Given the description of an element on the screen output the (x, y) to click on. 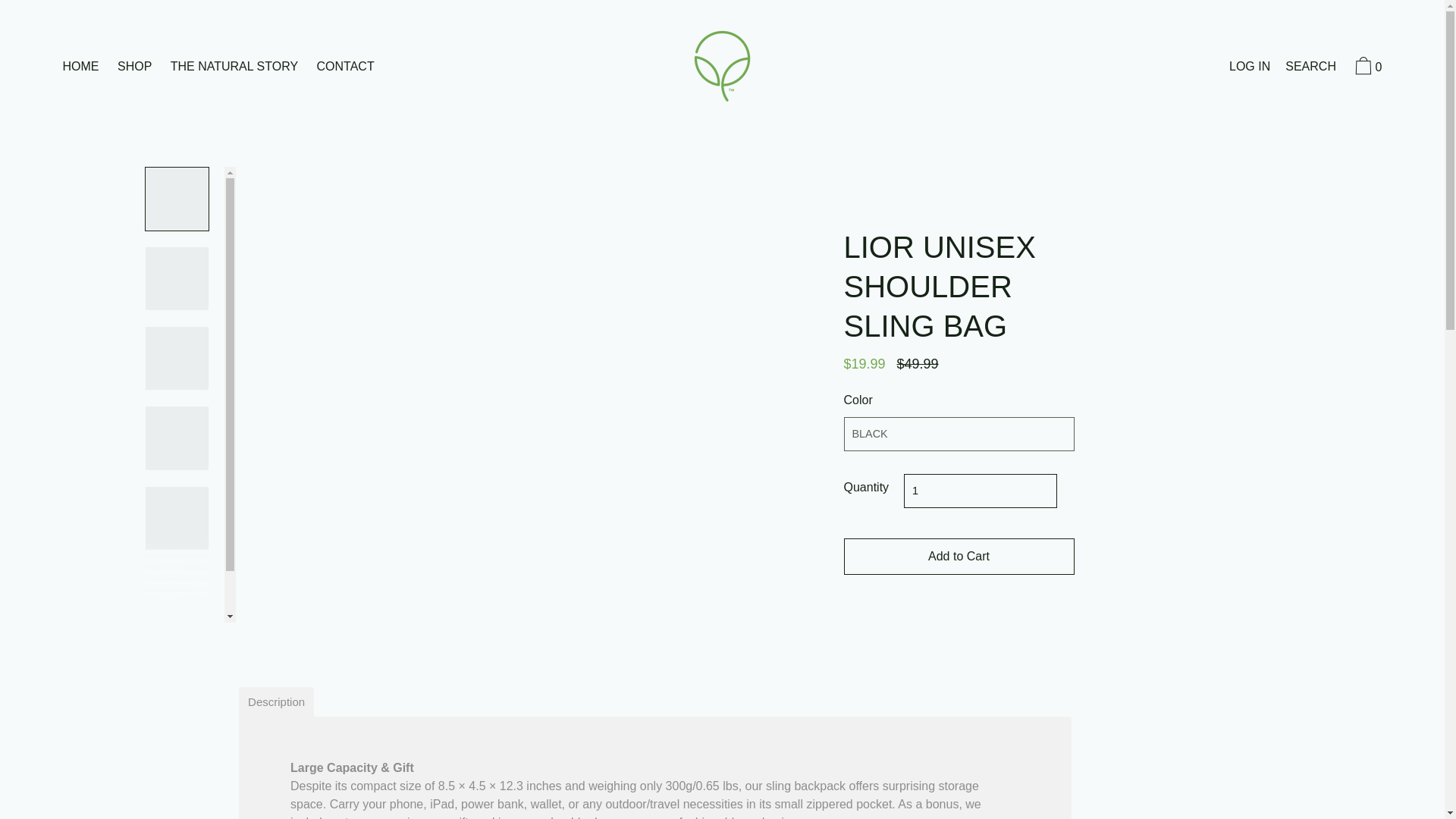
Add to Cart (958, 556)
1 (980, 490)
THE NATURAL STORY (234, 67)
SEARCH (1310, 67)
LOG IN (1249, 67)
HOME (80, 67)
0 (1366, 67)
CONTACT (344, 67)
SHOP (134, 67)
